Given the description of an element on the screen output the (x, y) to click on. 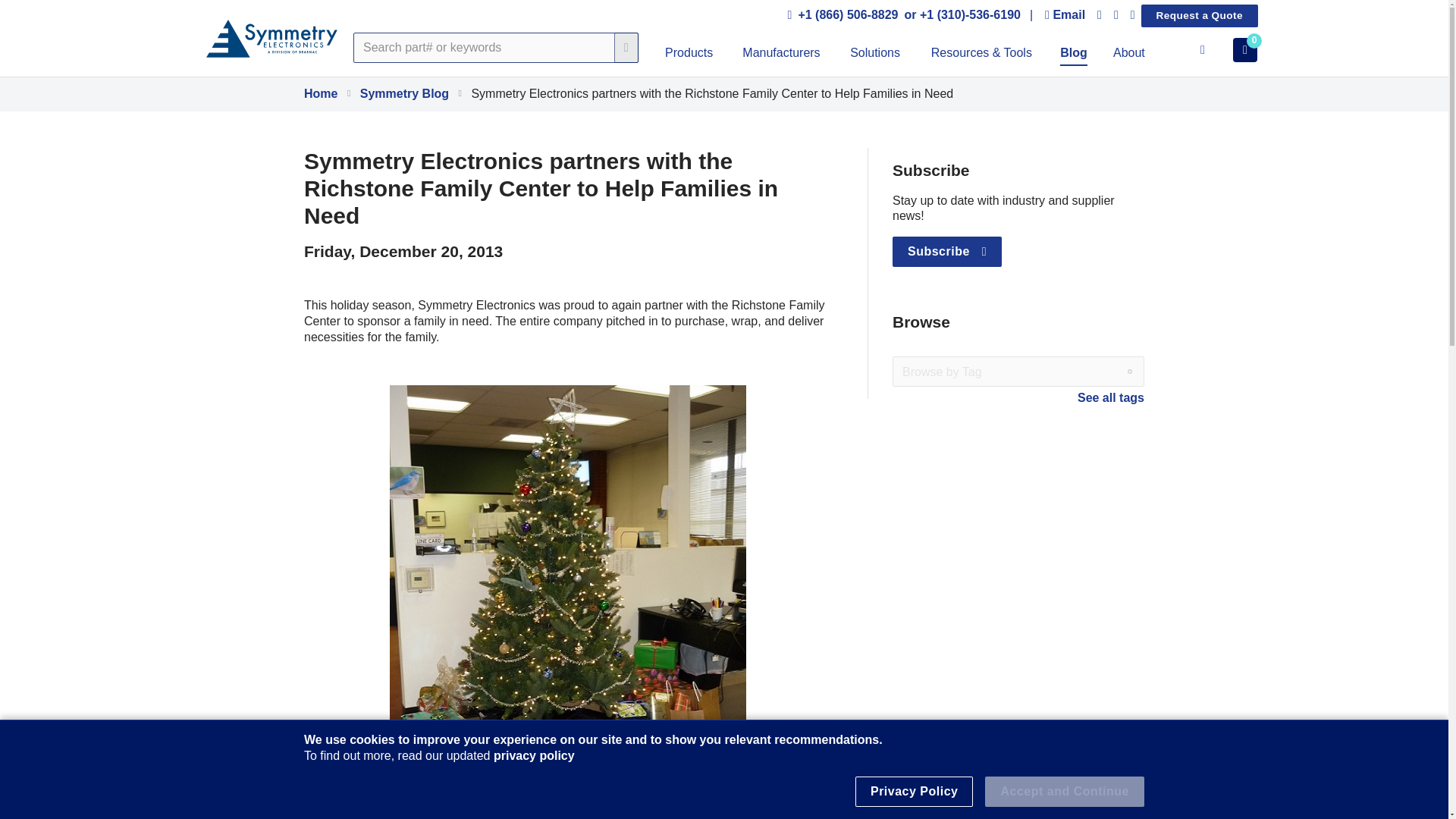
Email (1064, 15)
Request a Quote (1199, 15)
facebook (1116, 15)
youtube (1132, 15)
linkedin (1099, 15)
Email (1064, 15)
Products (688, 55)
